Given the description of an element on the screen output the (x, y) to click on. 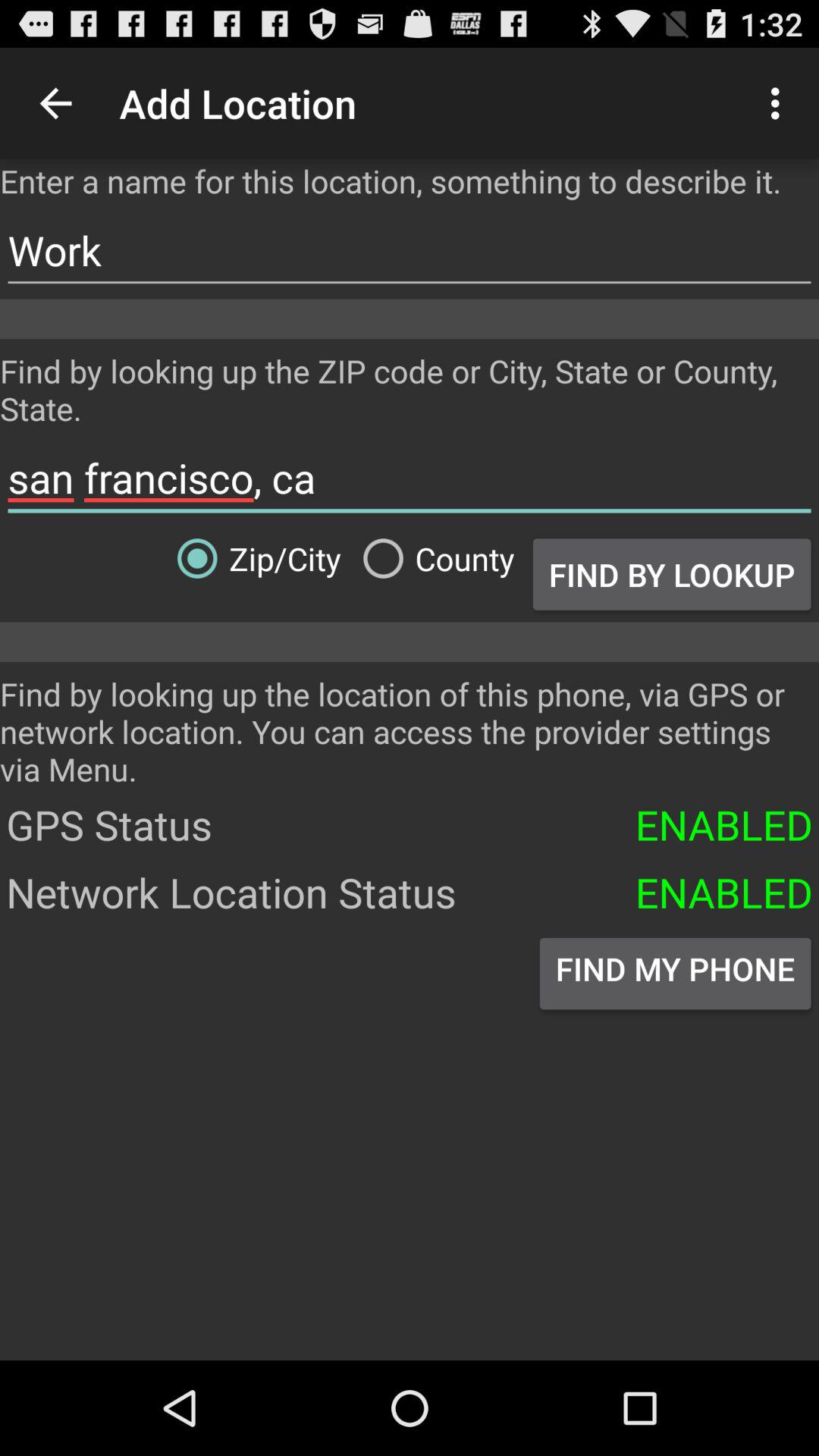
choose the item below enter a name (409, 250)
